Given the description of an element on the screen output the (x, y) to click on. 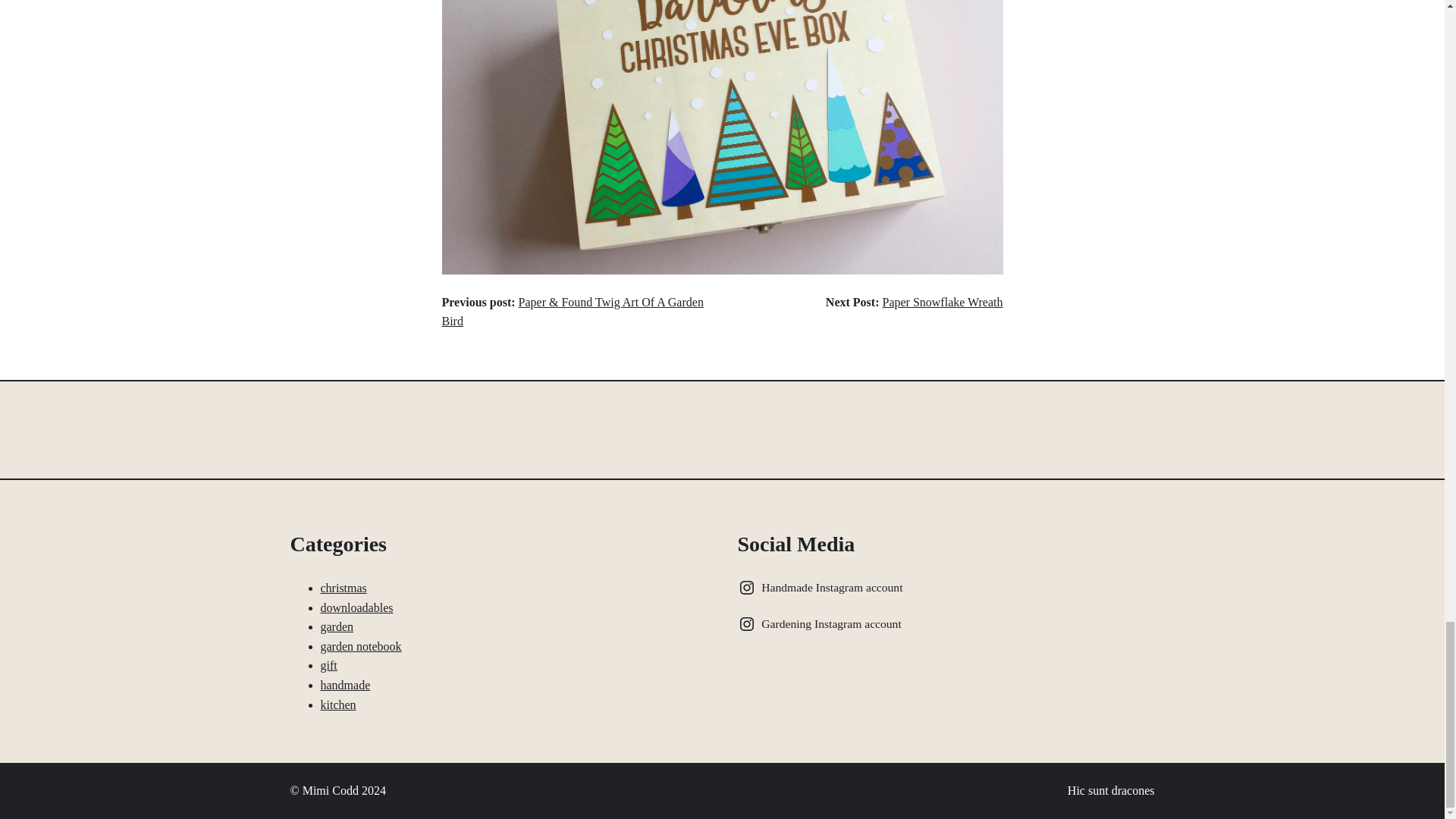
kitchen (337, 704)
garden notebook (360, 645)
gift (328, 665)
Handmade Instagram account (822, 587)
Paper Snowflake Wreath (942, 301)
garden (336, 626)
Gardening Instagram account (821, 624)
christmas (343, 587)
handmade (344, 684)
downloadables (356, 607)
